Given the description of an element on the screen output the (x, y) to click on. 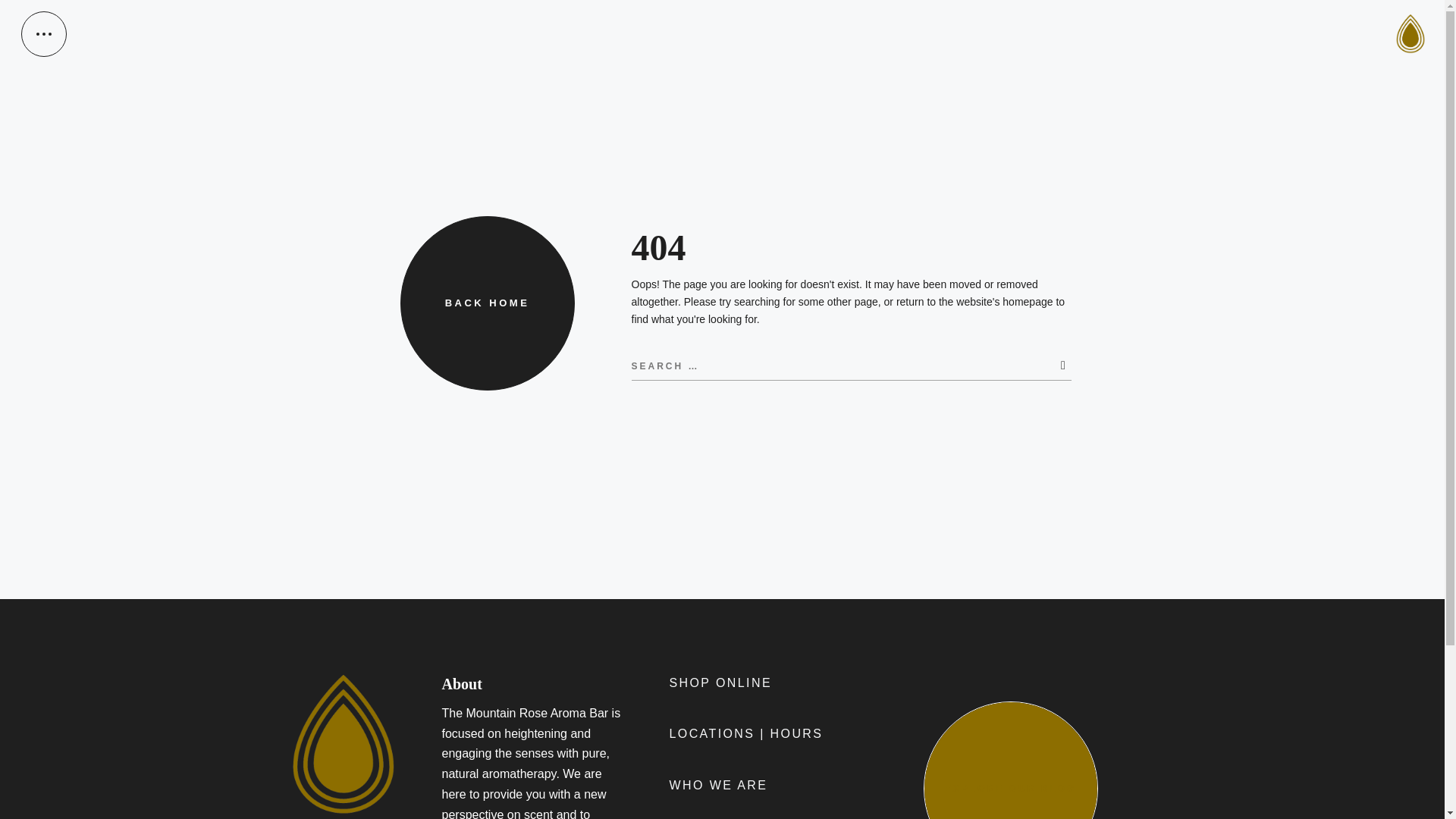
WHO WE ARE (717, 786)
EXPLORE OUR BLOG (1010, 760)
SHOP ONLINE (719, 683)
BACK HOME (487, 303)
